Given the description of an element on the screen output the (x, y) to click on. 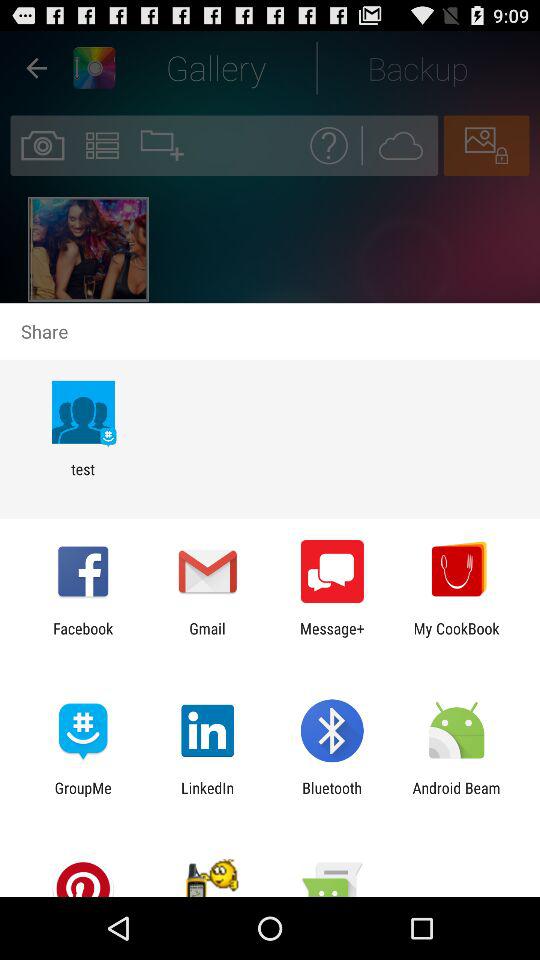
turn off icon to the left of the gmail app (83, 637)
